Given the description of an element on the screen output the (x, y) to click on. 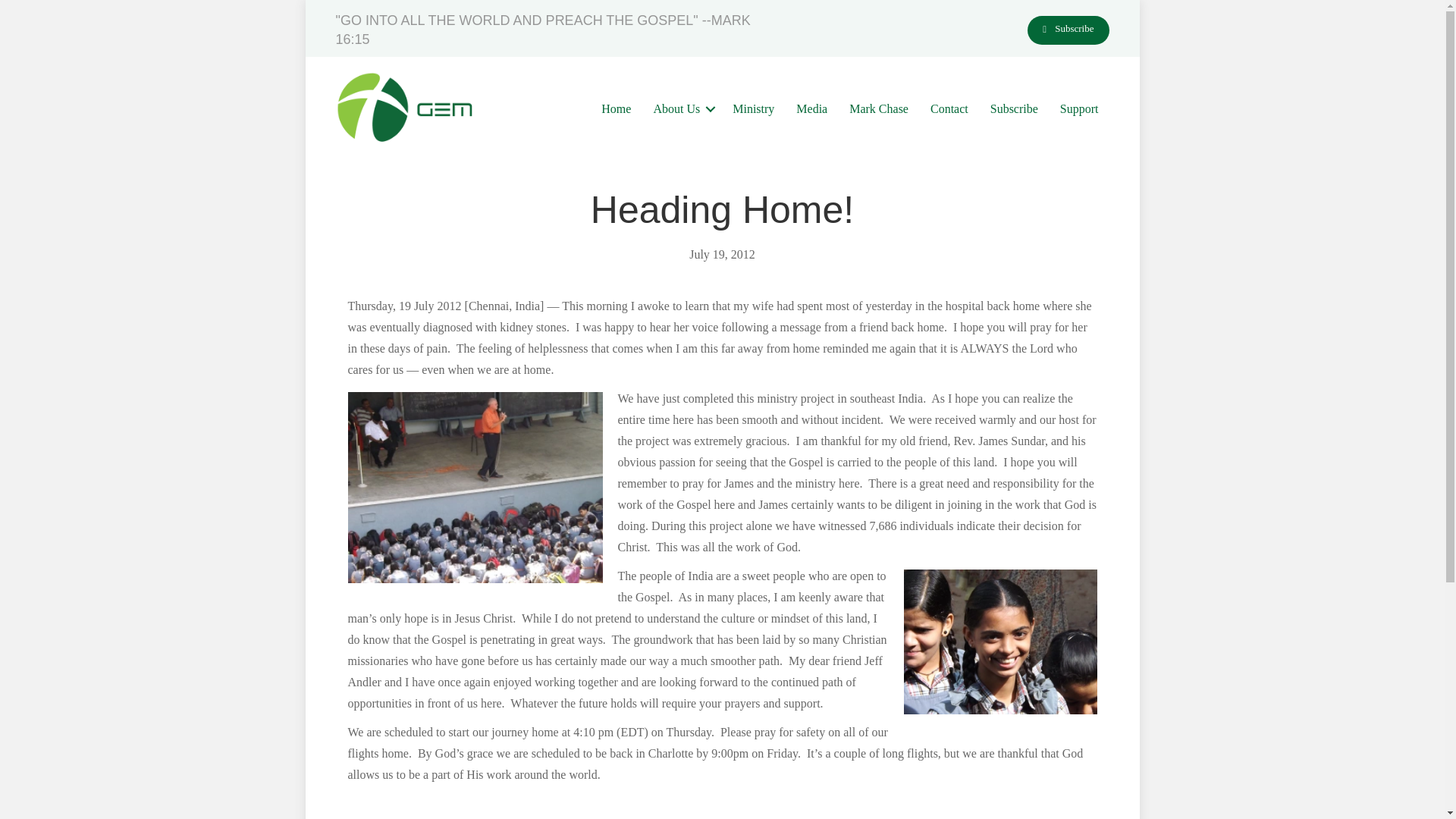
Mark Chase (878, 108)
Subscribe (1067, 29)
Thur. Sch. Roy 2 (474, 487)
Ministry (753, 108)
Thur. Sch. Smile (1000, 641)
gem-new-logo (406, 108)
Subscribe (1013, 108)
Home (616, 108)
Media (812, 108)
Contact (949, 108)
Submit (722, 112)
Support (1079, 108)
About Us (681, 108)
